Given the description of an element on the screen output the (x, y) to click on. 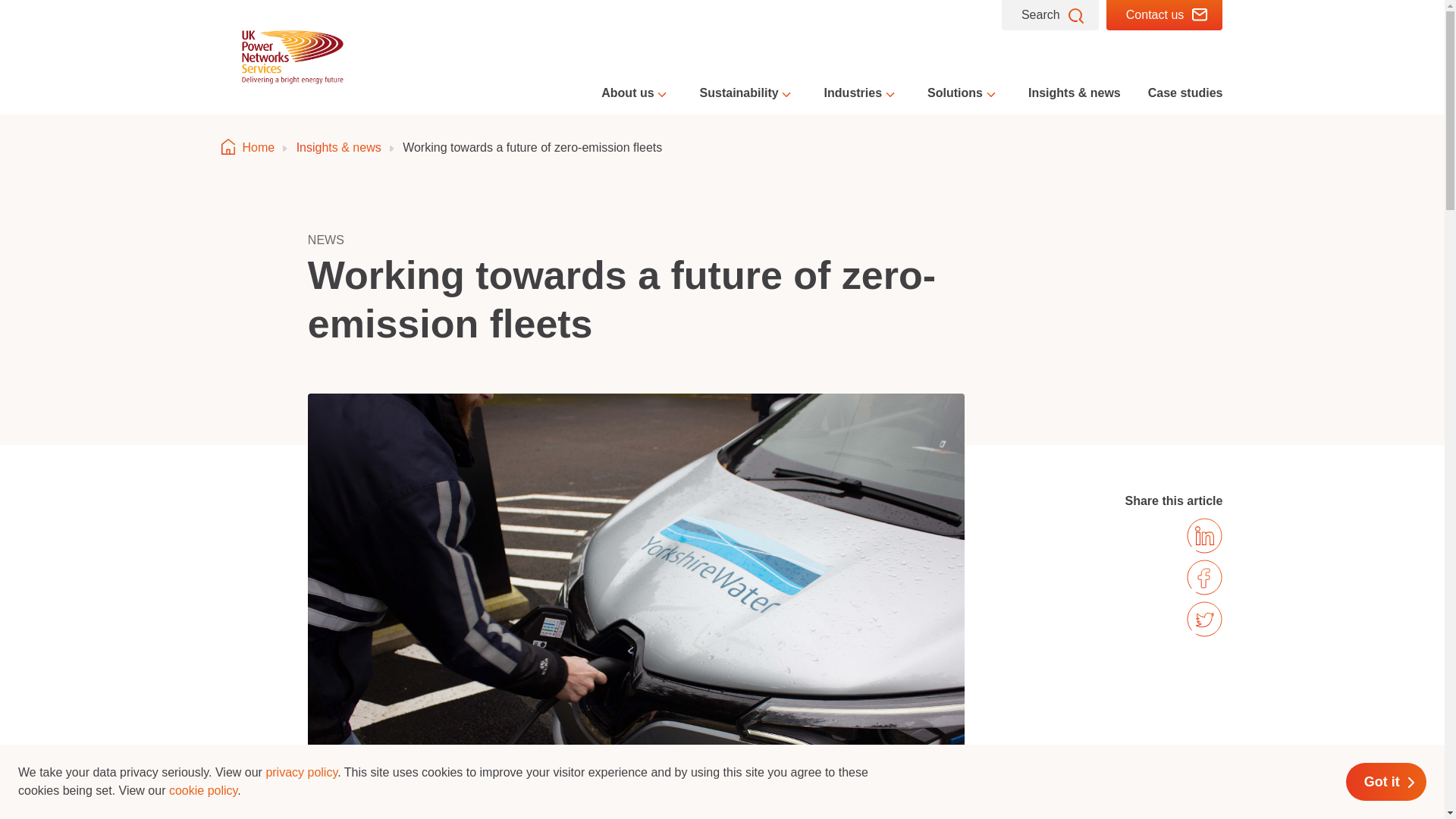
Industries (861, 92)
Cookie Policy (202, 789)
About us (636, 92)
Contact us (1164, 15)
Solutions (964, 92)
Case studies (1185, 92)
Sustainability (748, 92)
Privacy Policy (300, 771)
